Given the description of an element on the screen output the (x, y) to click on. 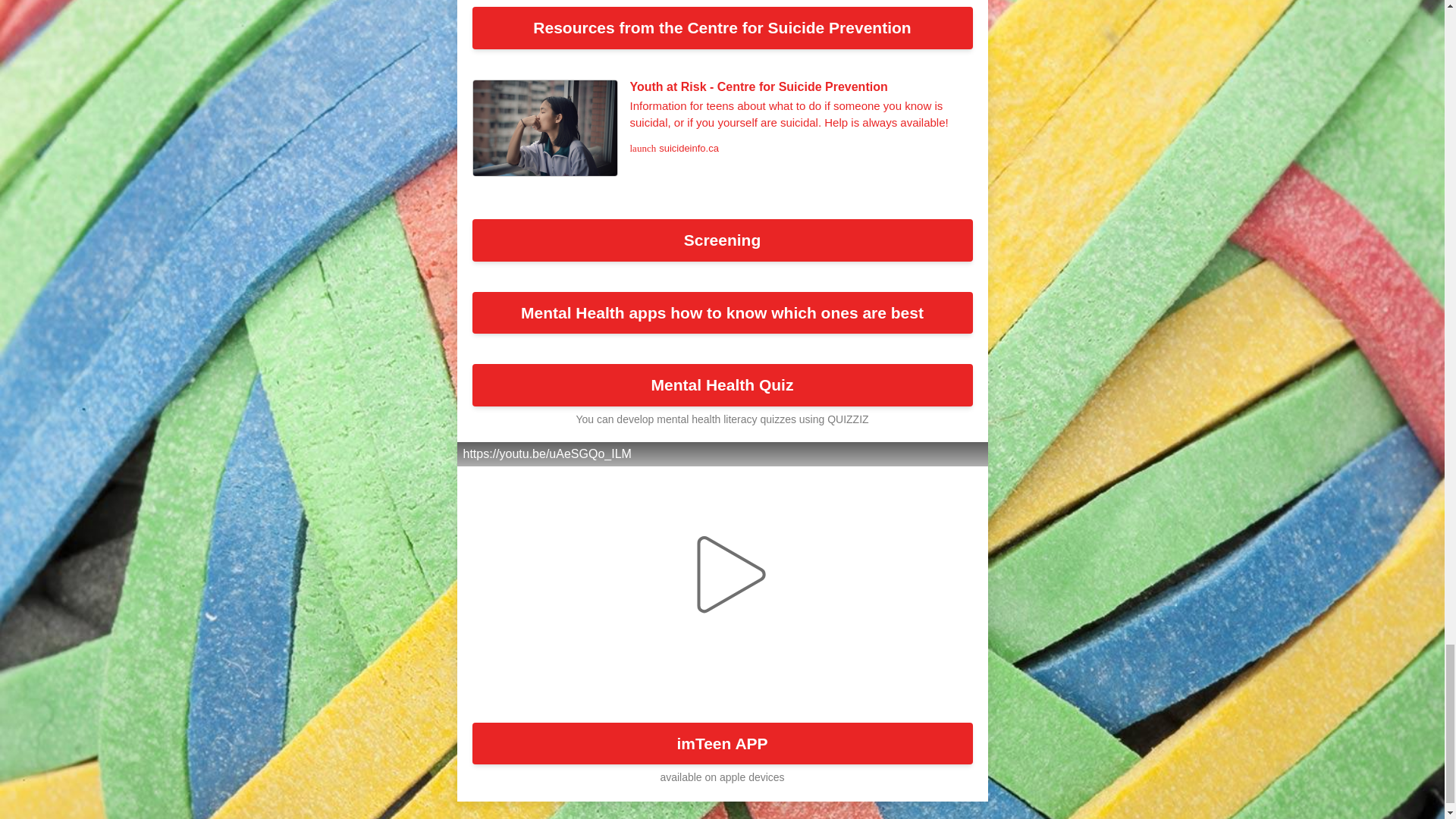
Mental Health apps how to know which ones are best (721, 312)
Screening (721, 240)
Mental Health Quiz (721, 384)
Resources from the Centre for Suicide Prevention (721, 27)
imTeen APP (721, 743)
